Given the description of an element on the screen output the (x, y) to click on. 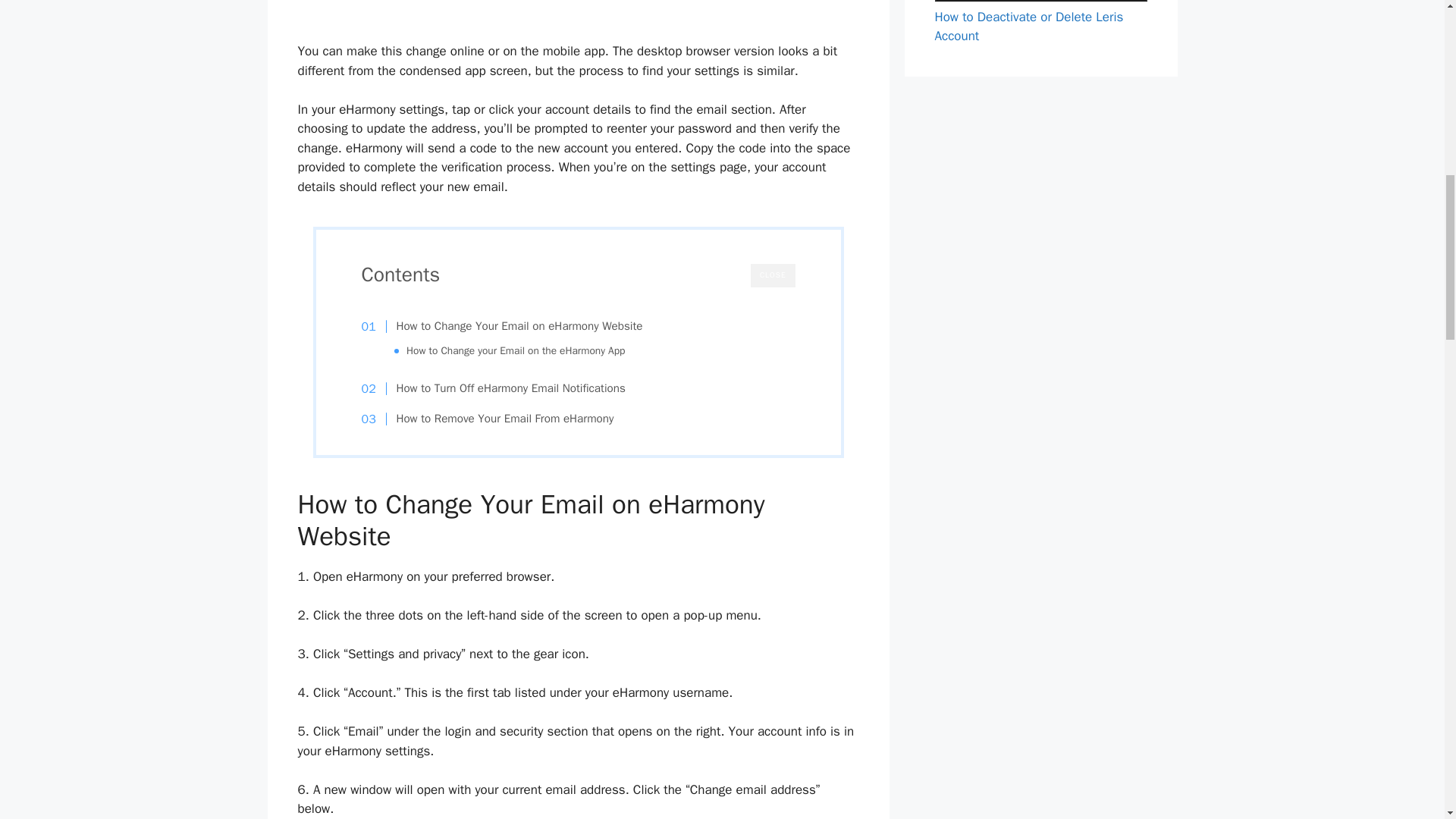
How to Turn Off eHarmony Email Notifications (501, 389)
How to Deactivate or Delete Leris Account (1028, 27)
How to Change Your Email on eHarmony Website  (511, 326)
How to Change your Email on the eHarmony App (515, 350)
Advertisement (578, 18)
How to Remove Your Email From eHarmony (494, 419)
